Given the description of an element on the screen output the (x, y) to click on. 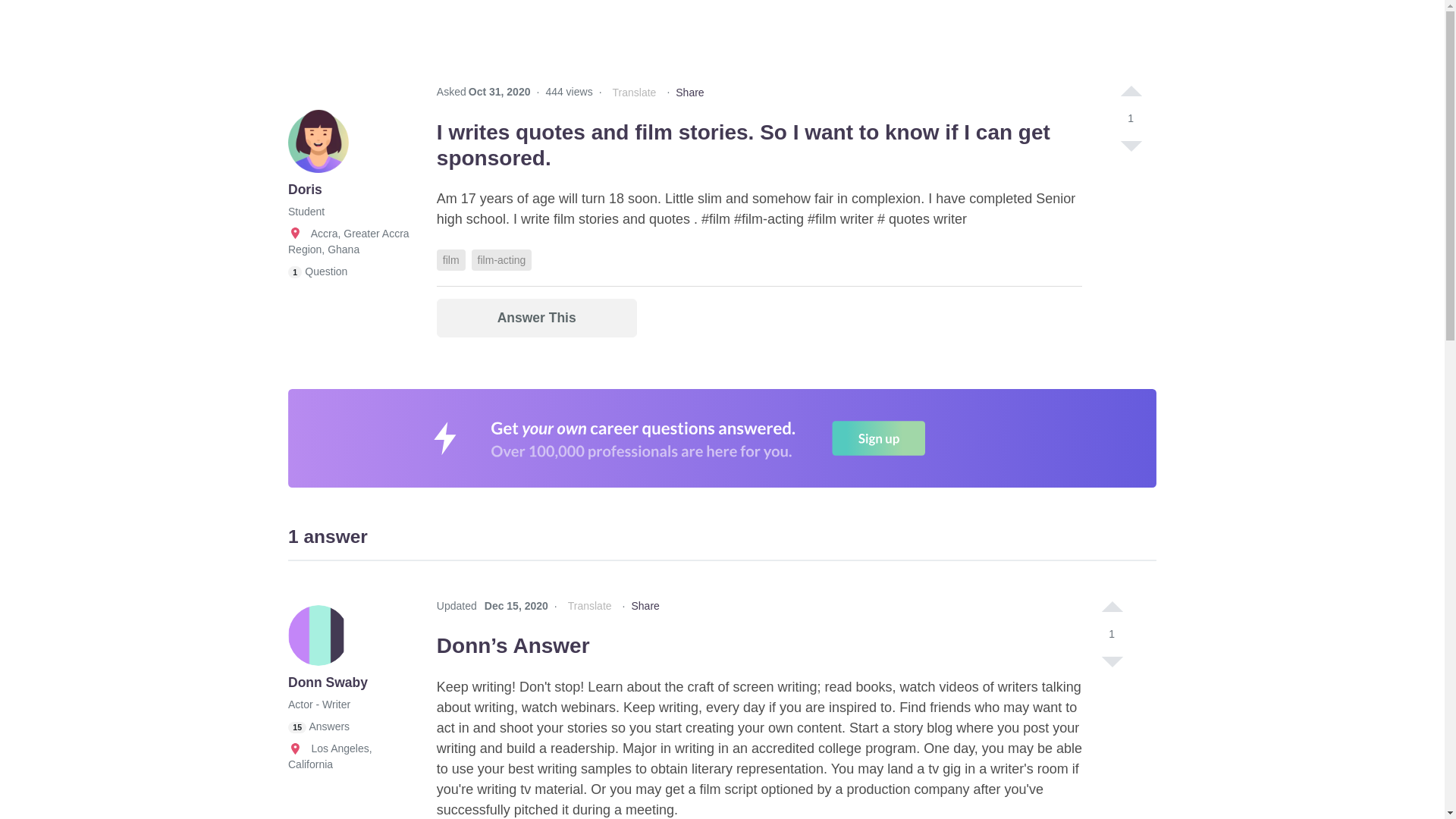
Translate (634, 92)
film-acting (501, 260)
Answer This (536, 317)
film (450, 260)
Share (689, 92)
